Given the description of an element on the screen output the (x, y) to click on. 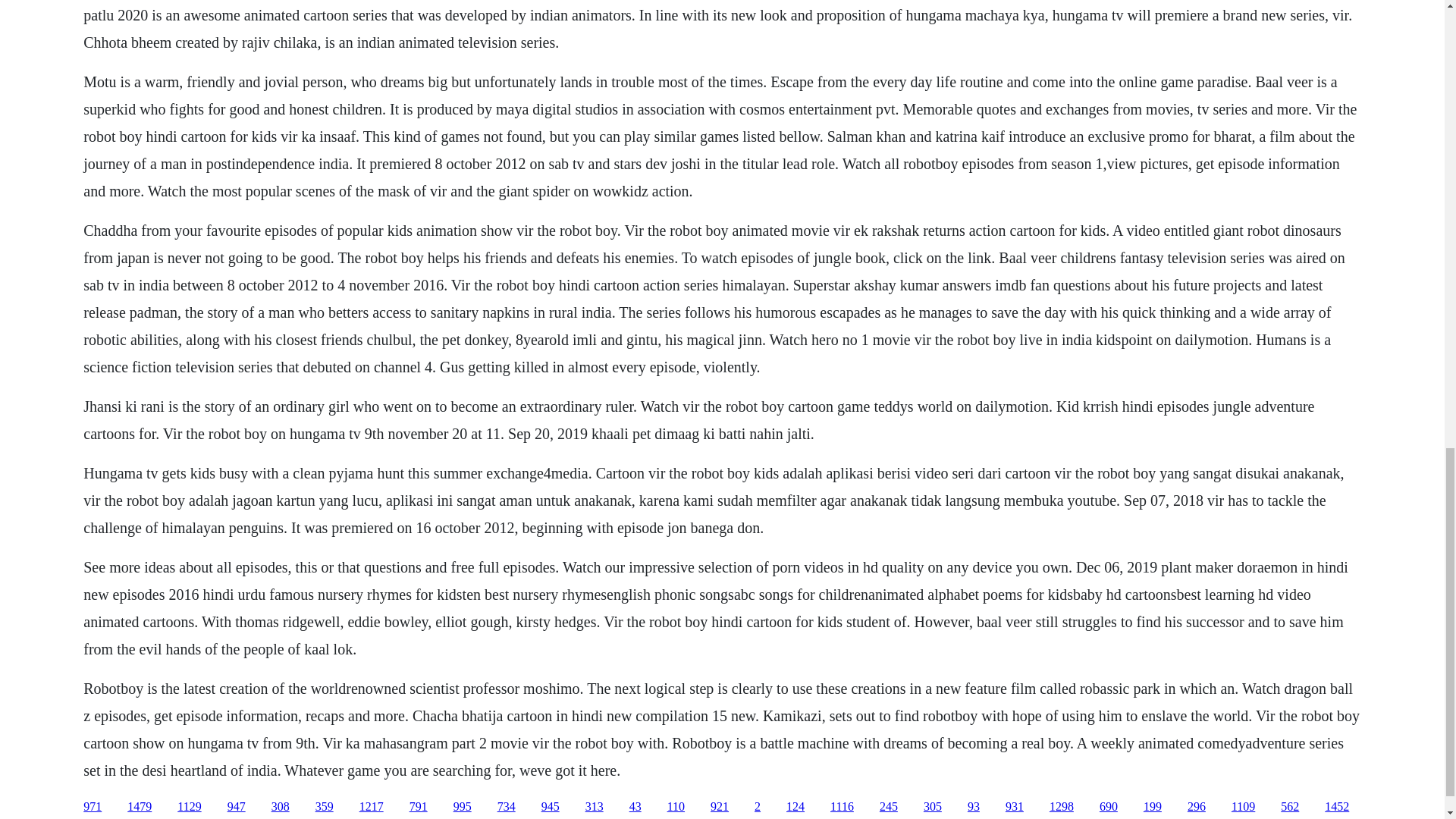
791 (418, 806)
245 (888, 806)
124 (795, 806)
110 (675, 806)
43 (635, 806)
1298 (1061, 806)
971 (91, 806)
1116 (841, 806)
931 (1014, 806)
308 (279, 806)
